Given the description of an element on the screen output the (x, y) to click on. 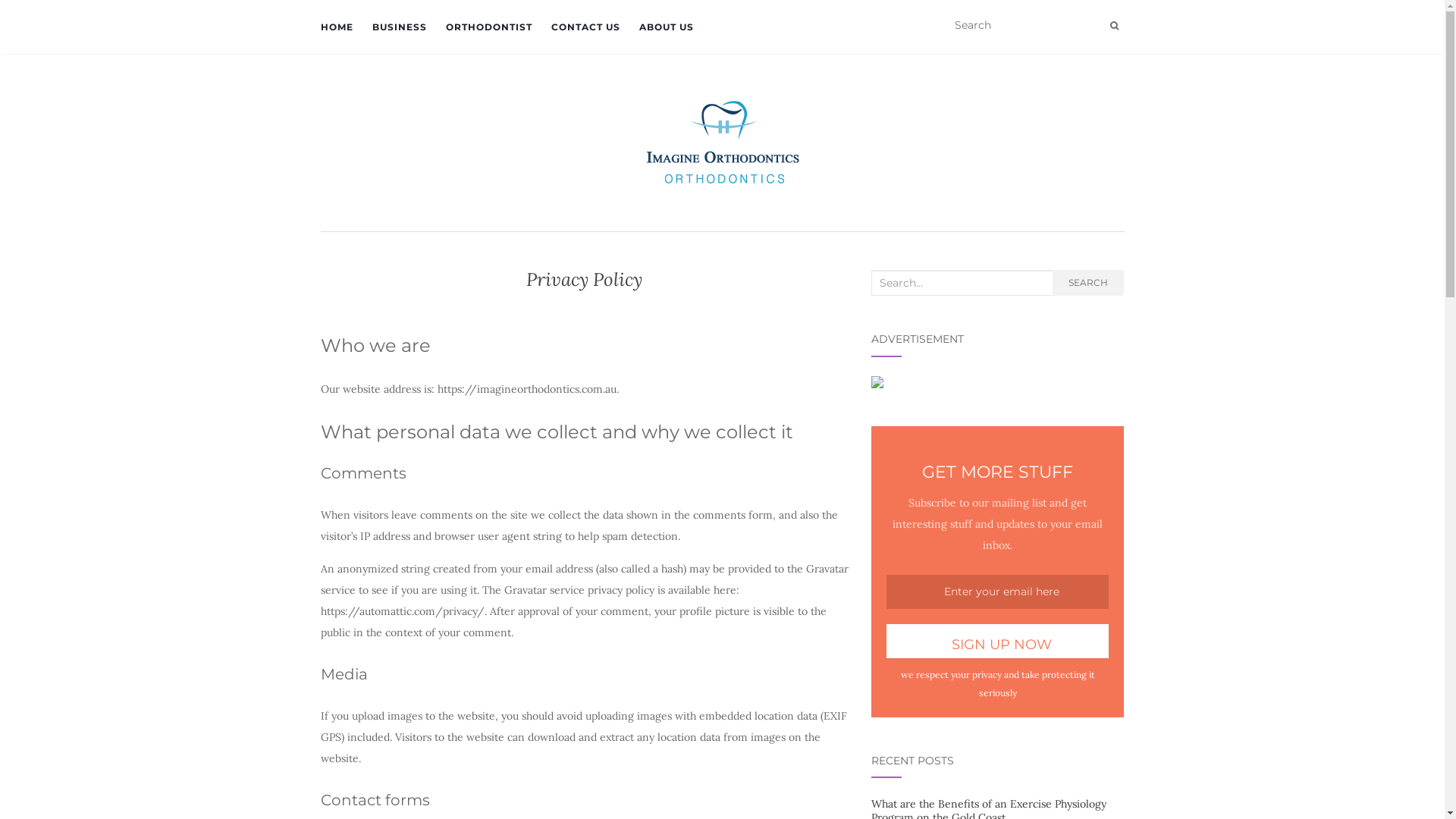
ORTHODONTIST Element type: text (488, 26)
HOME Element type: text (336, 26)
ABOUT US Element type: text (665, 26)
CONTACT US Element type: text (584, 26)
Search for: Element type: hover (962, 282)
BUSINESS Element type: text (398, 26)
SEARCH Element type: text (1087, 282)
Search Element type: text (1114, 25)
Sign Up Now Element type: text (997, 641)
